Given the description of an element on the screen output the (x, y) to click on. 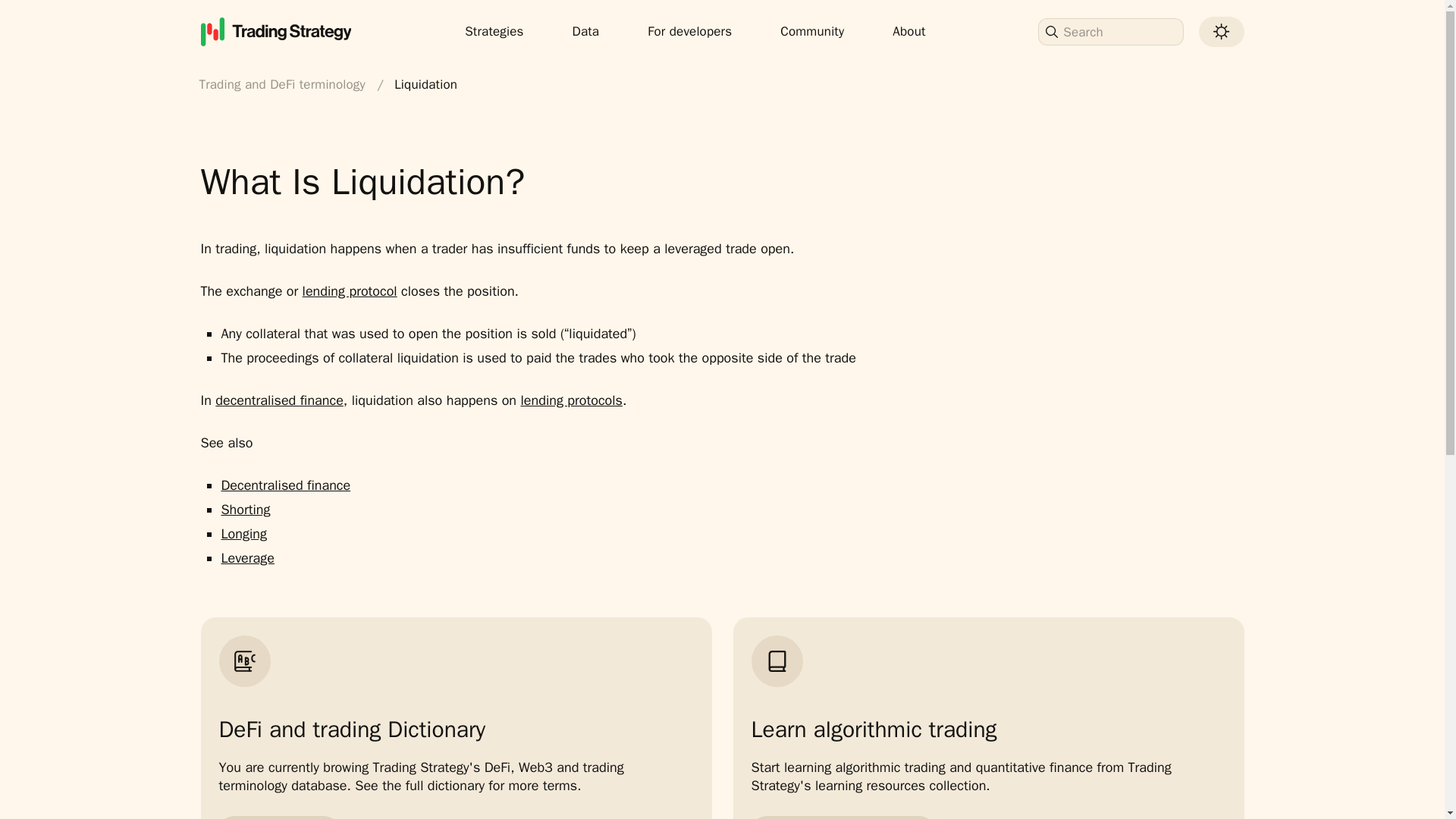
decentralised finance (279, 400)
Data (585, 31)
Strategies (493, 31)
lending protocols (570, 400)
Decentralised finance (285, 484)
About (908, 31)
Shorting (245, 509)
lending protocol (349, 290)
Trading and DeFi terminology (283, 84)
For developers (689, 31)
Community (812, 31)
Select color mode (1220, 30)
